Given the description of an element on the screen output the (x, y) to click on. 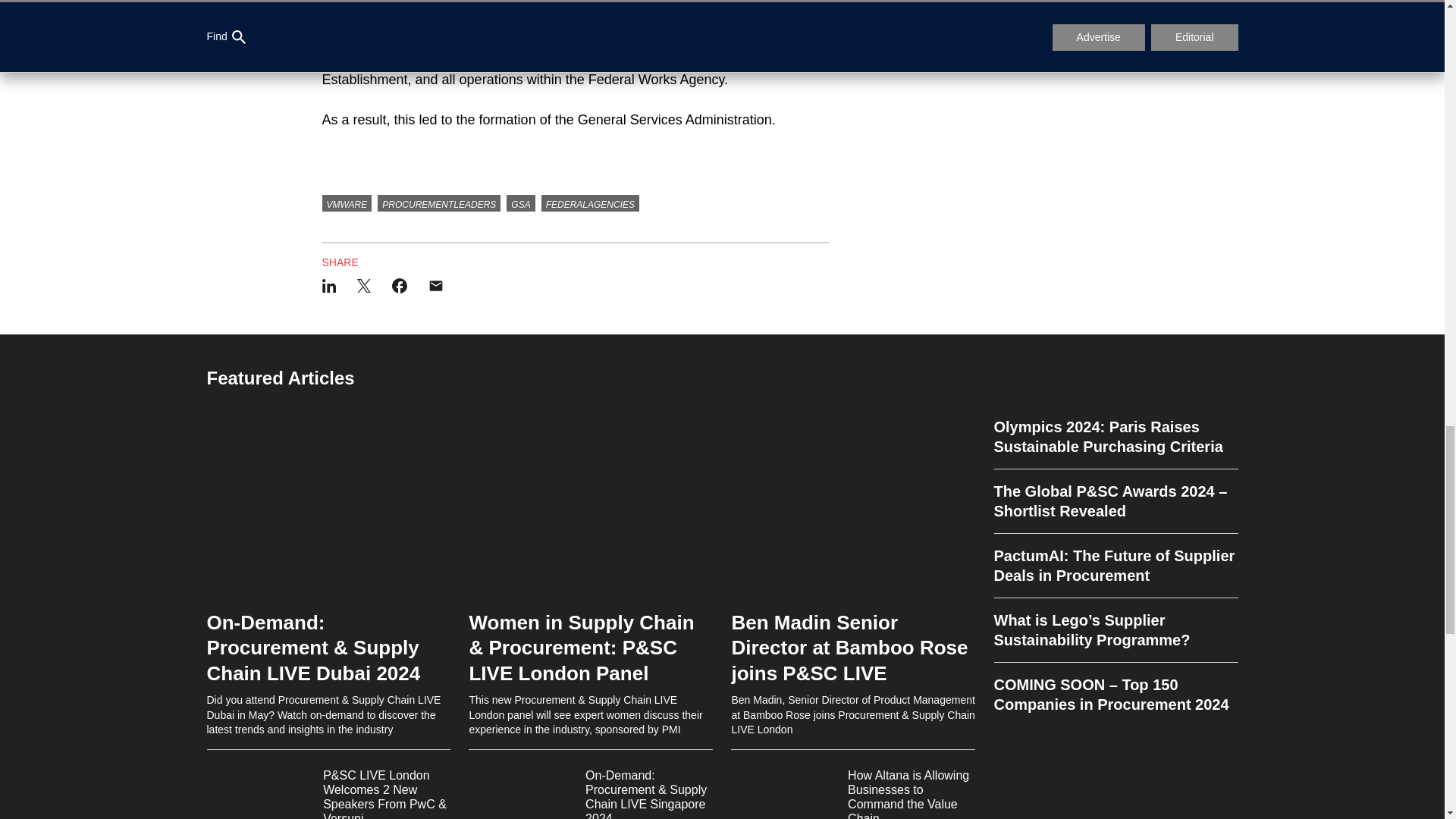
PROCUREMENTLEADERS (438, 202)
FEDERALAGENCIES (590, 202)
GSA (520, 202)
Olympics 2024: Paris Raises Sustainable Purchasing Criteria (1114, 442)
VMWARE (346, 202)
PactumAI: The Future of Supplier Deals in Procurement (1114, 565)
